Given the description of an element on the screen output the (x, y) to click on. 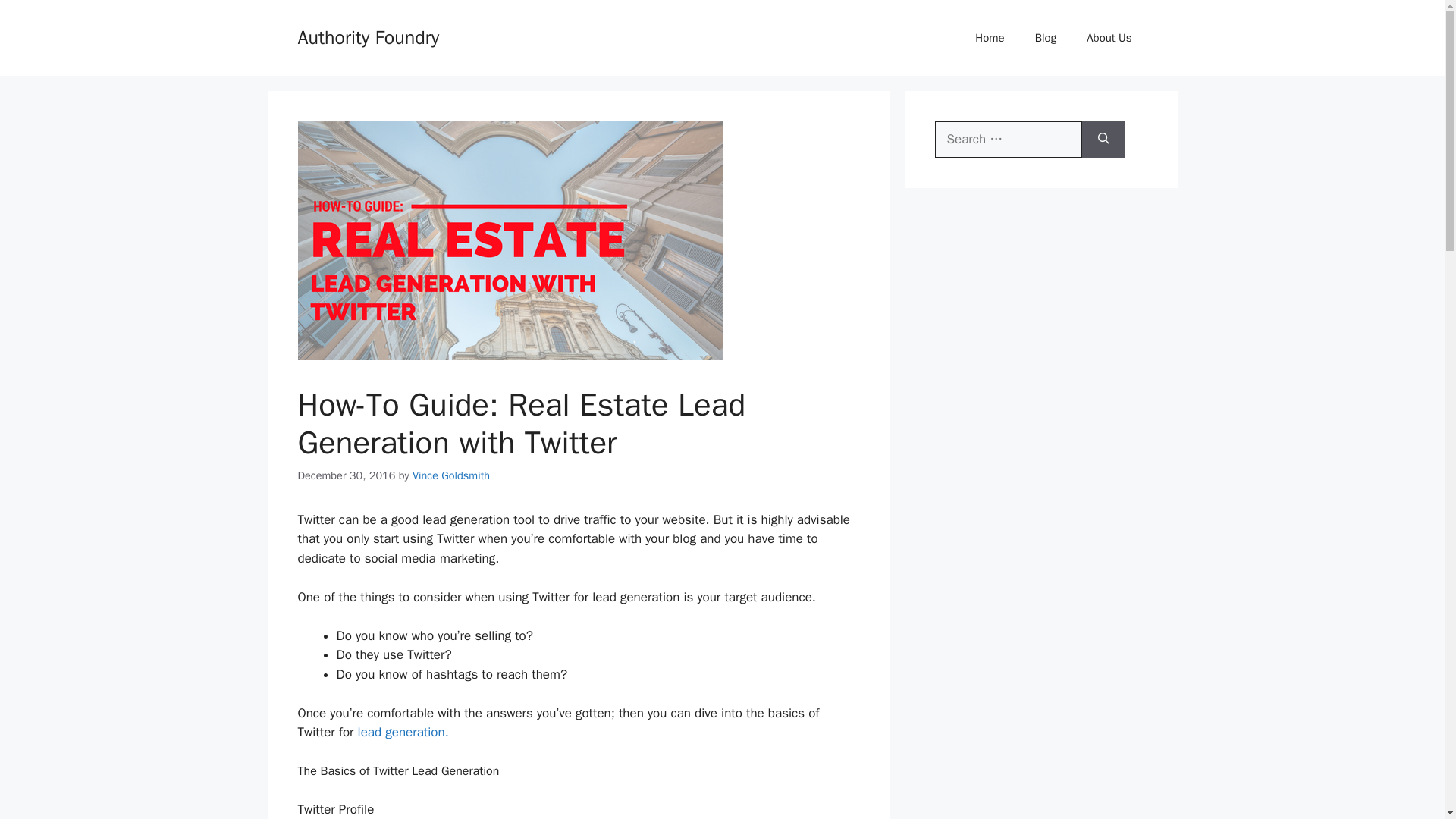
About Us (1109, 37)
Home (989, 37)
Blog (1045, 37)
View all posts by Vince Goldsmith (450, 475)
Search for: (1007, 139)
lead generation. (403, 731)
Authority Foundry (368, 37)
Vince Goldsmith (450, 475)
